Given the description of an element on the screen output the (x, y) to click on. 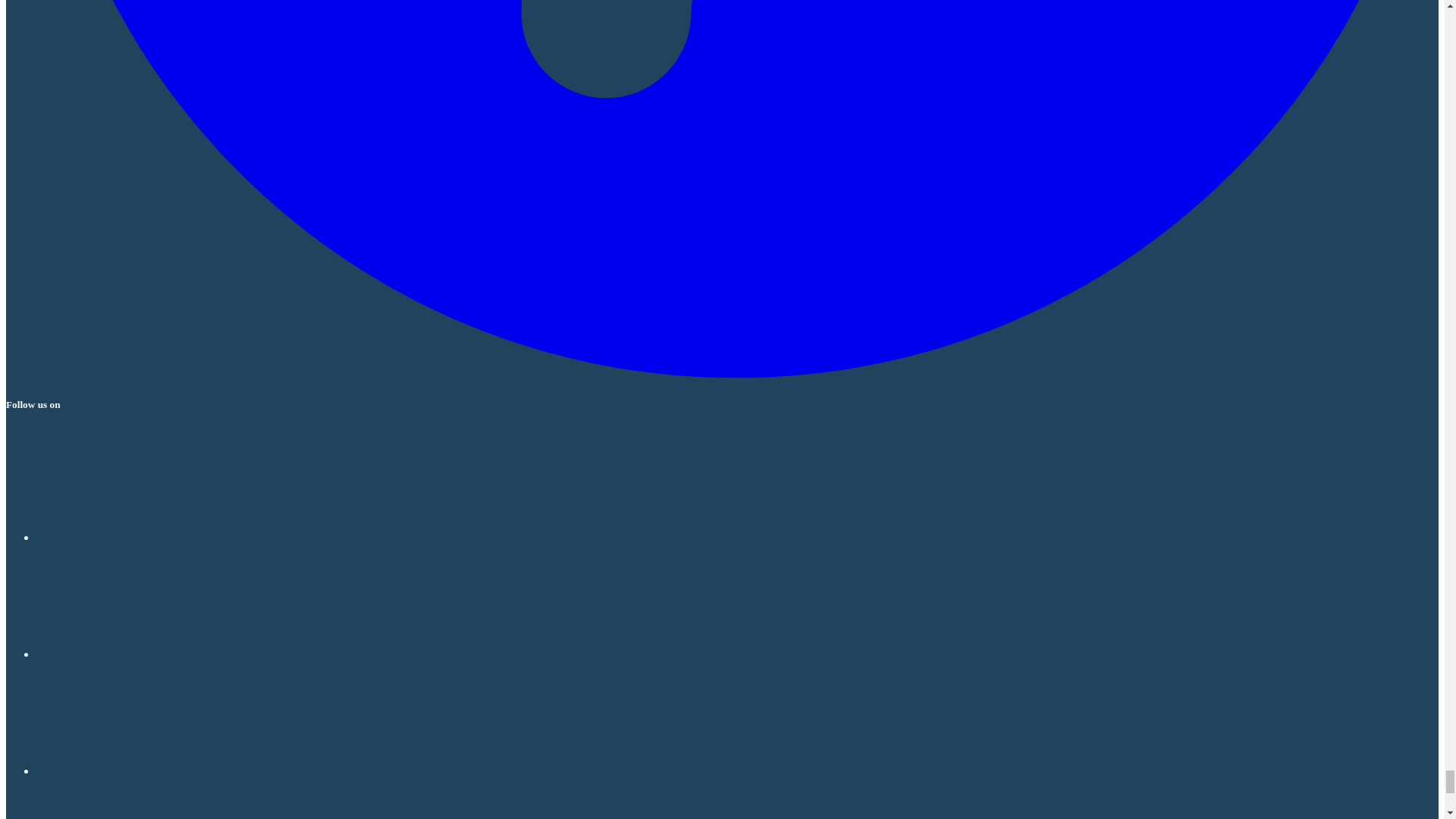
Facebook - Bright Horizons UK (149, 536)
